Given the description of an element on the screen output the (x, y) to click on. 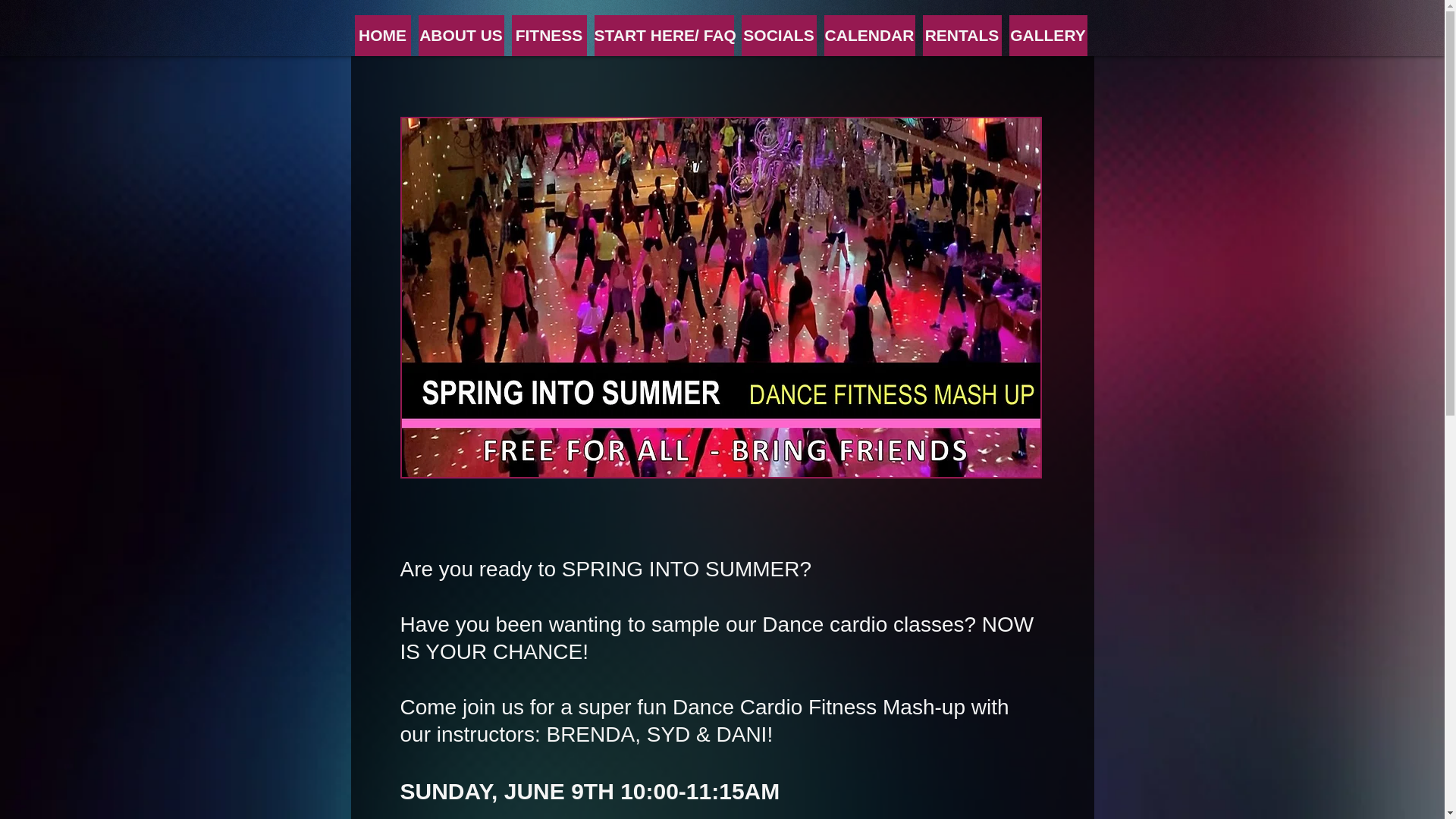
CALENDAR (869, 35)
SOCIALS (778, 35)
RENTALS (961, 35)
GALLERY (1047, 35)
HOME (382, 35)
FITNESS (548, 35)
